Given the description of an element on the screen output the (x, y) to click on. 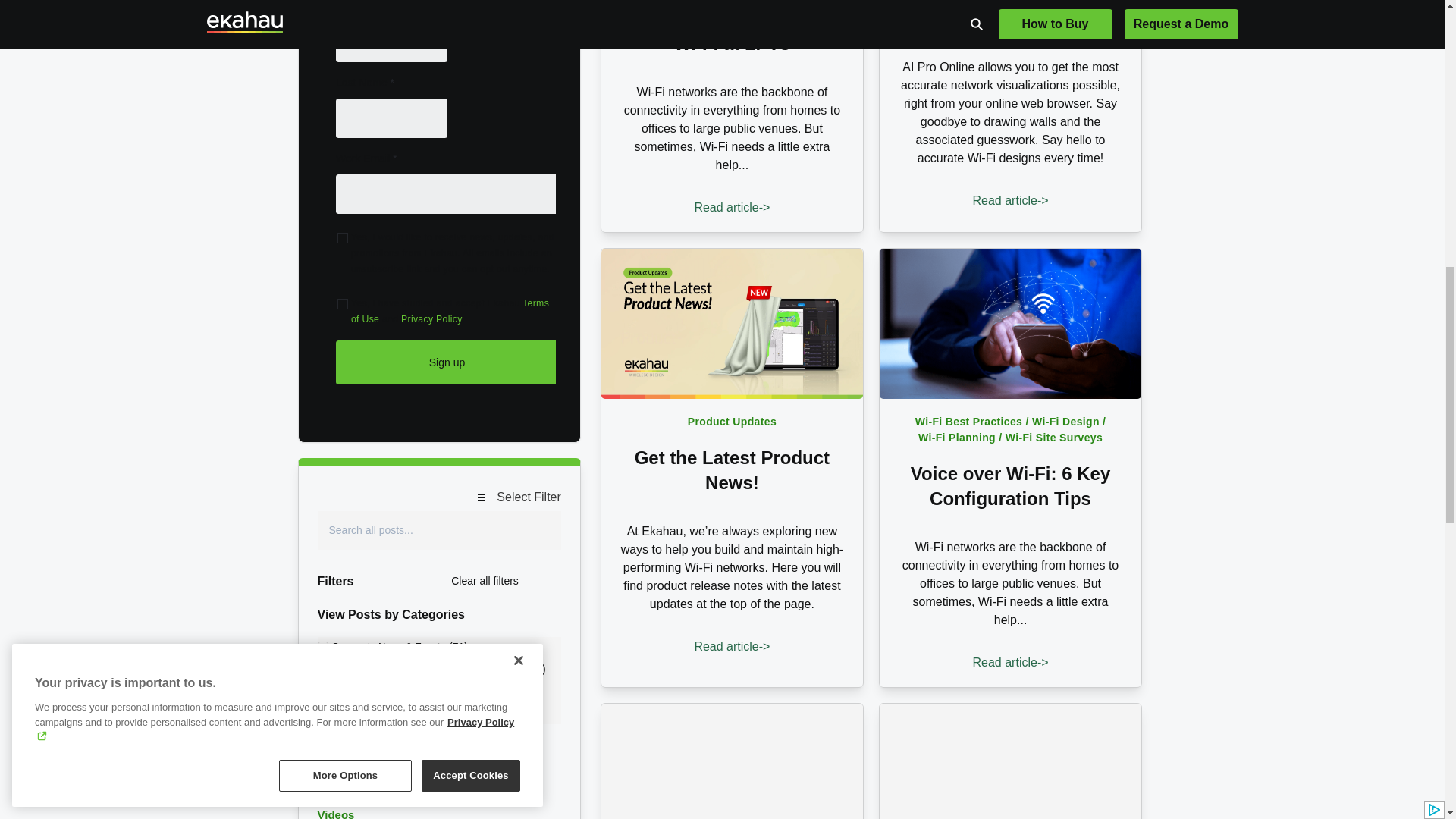
Pardot Newsletter Form (439, 211)
Product Updates (731, 421)
Clear all filters (484, 580)
Datasheets (347, 797)
Case Studies (352, 779)
Videos (335, 813)
